Given the description of an element on the screen output the (x, y) to click on. 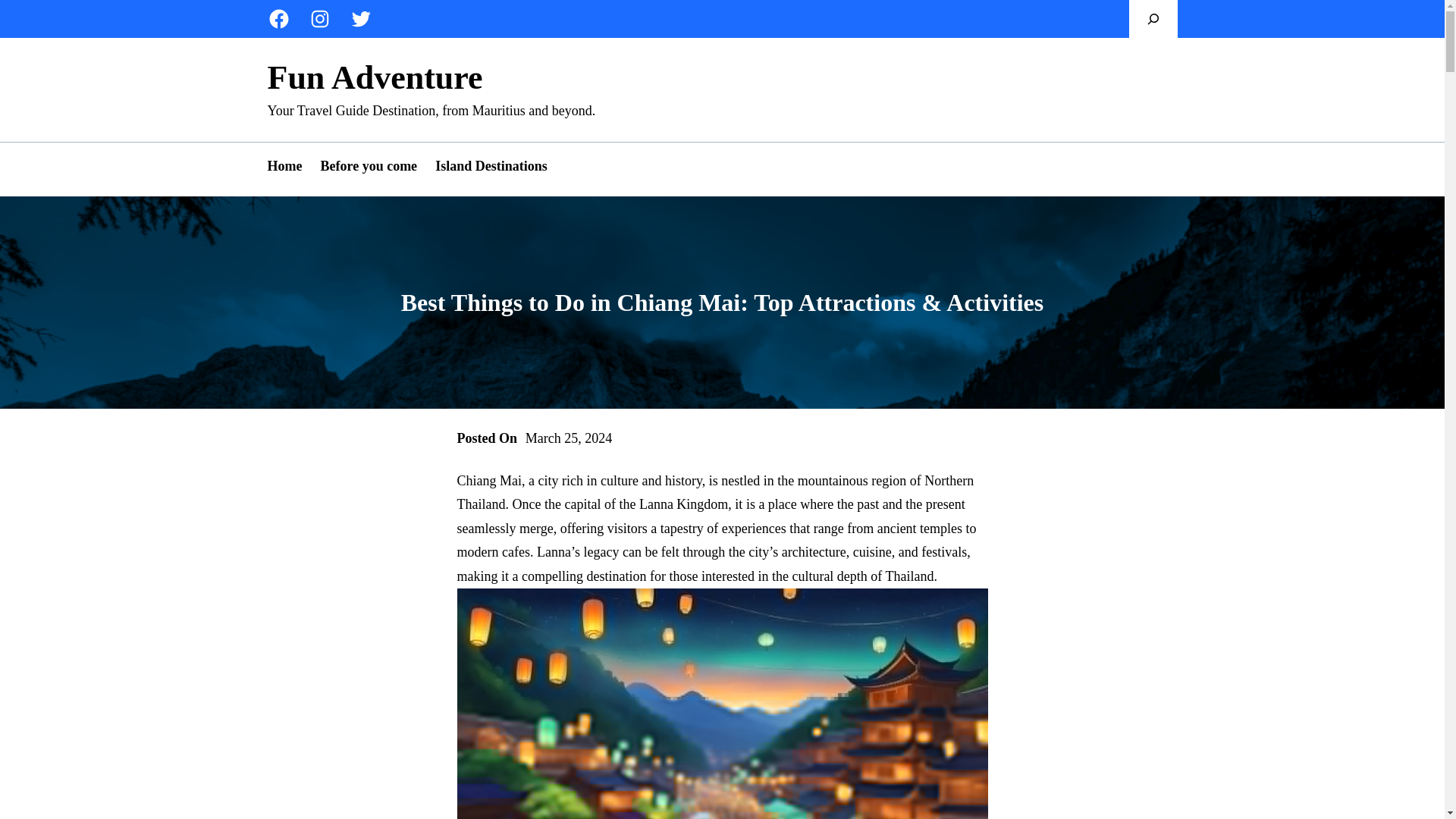
Facebook (277, 18)
Before you come (368, 166)
Instagram (318, 18)
Fun Adventure (373, 77)
Twitter (360, 18)
Home (283, 166)
Island Destinations (491, 166)
